Given the description of an element on the screen output the (x, y) to click on. 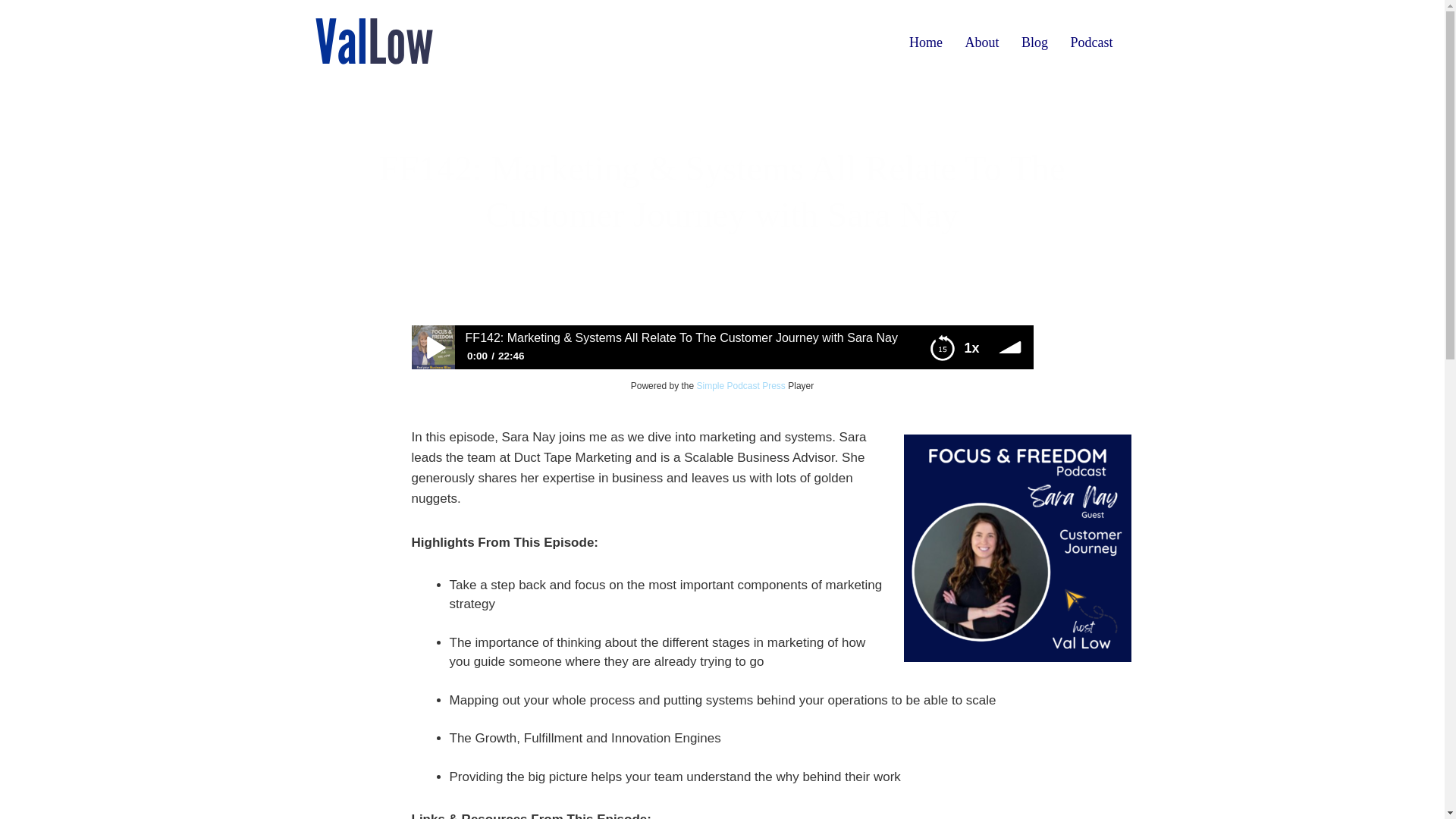
Simple Podcast Press (739, 385)
About (980, 42)
Blog (1035, 42)
Home (925, 42)
Podcast (1091, 42)
